Given the description of an element on the screen output the (x, y) to click on. 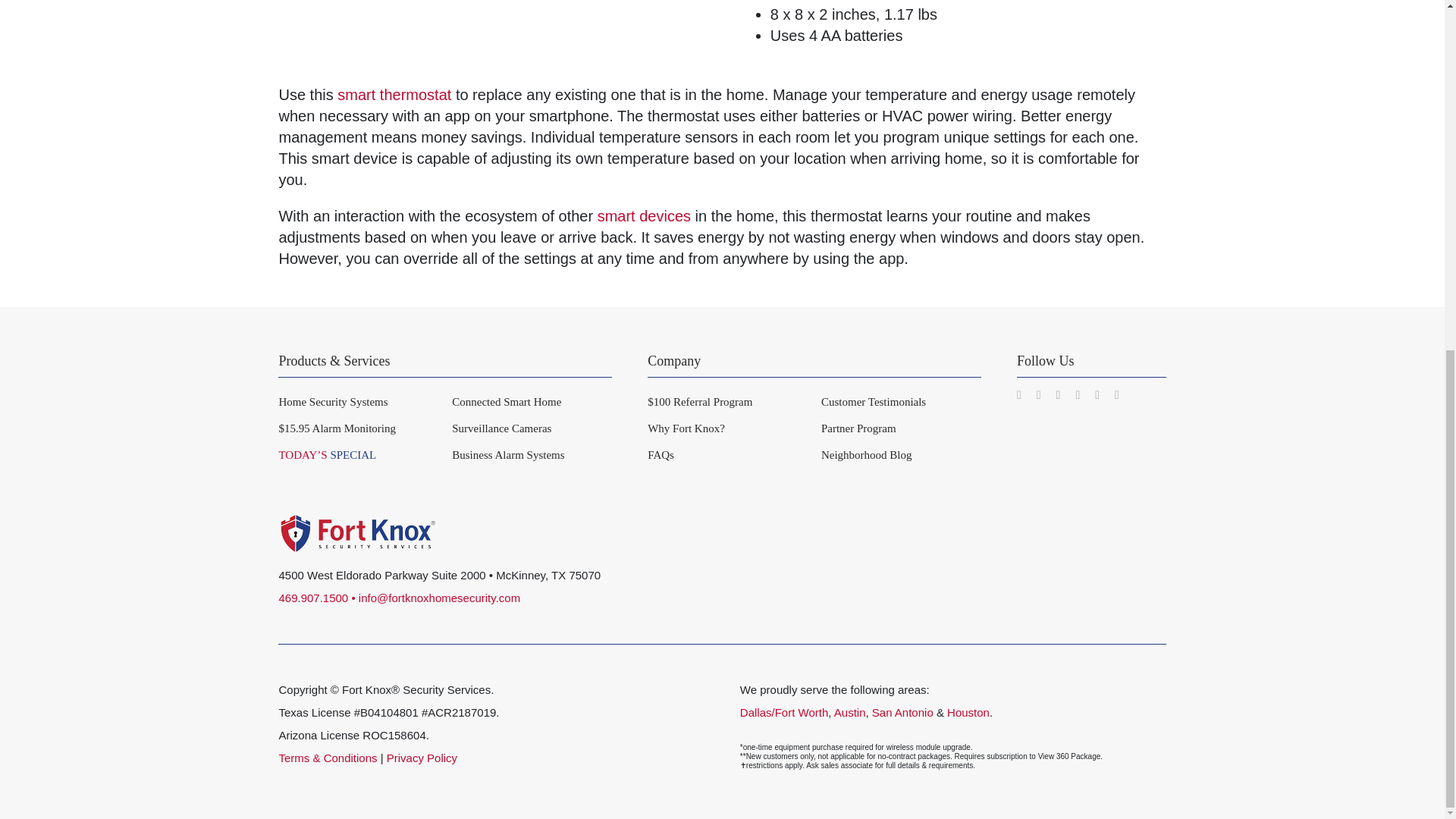
Home Security Systems (358, 402)
Business Alarm Systems (531, 455)
BBB (1108, 578)
smart devices (643, 216)
Surveillance Cameras (531, 428)
5-diamond-review (786, 527)
fb (1118, 527)
Connected Smart Home (531, 402)
smart thermostat (394, 94)
google (1007, 527)
trustpilot (897, 527)
